Given the description of an element on the screen output the (x, y) to click on. 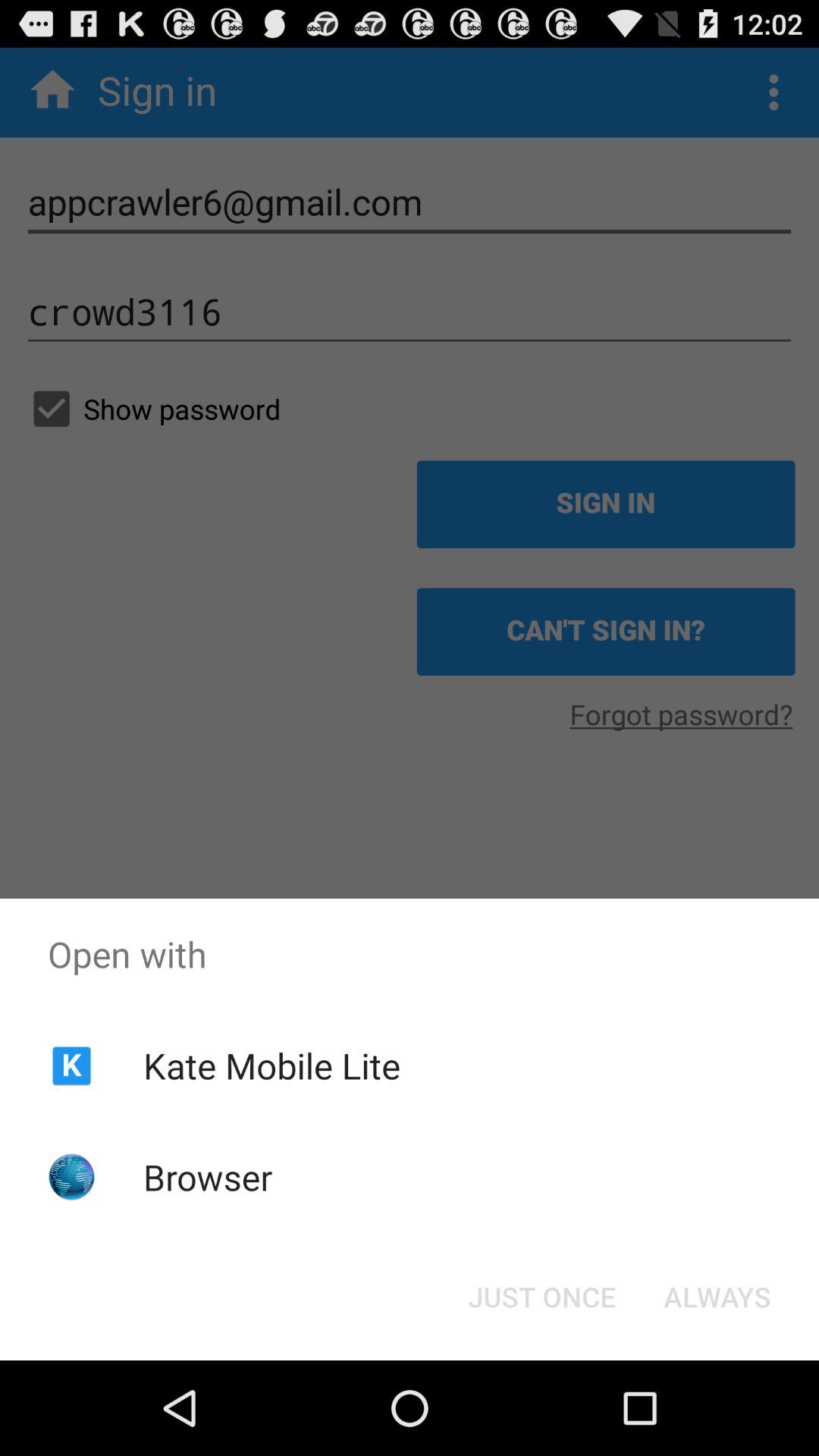
choose the item below open with (717, 1296)
